Given the description of an element on the screen output the (x, y) to click on. 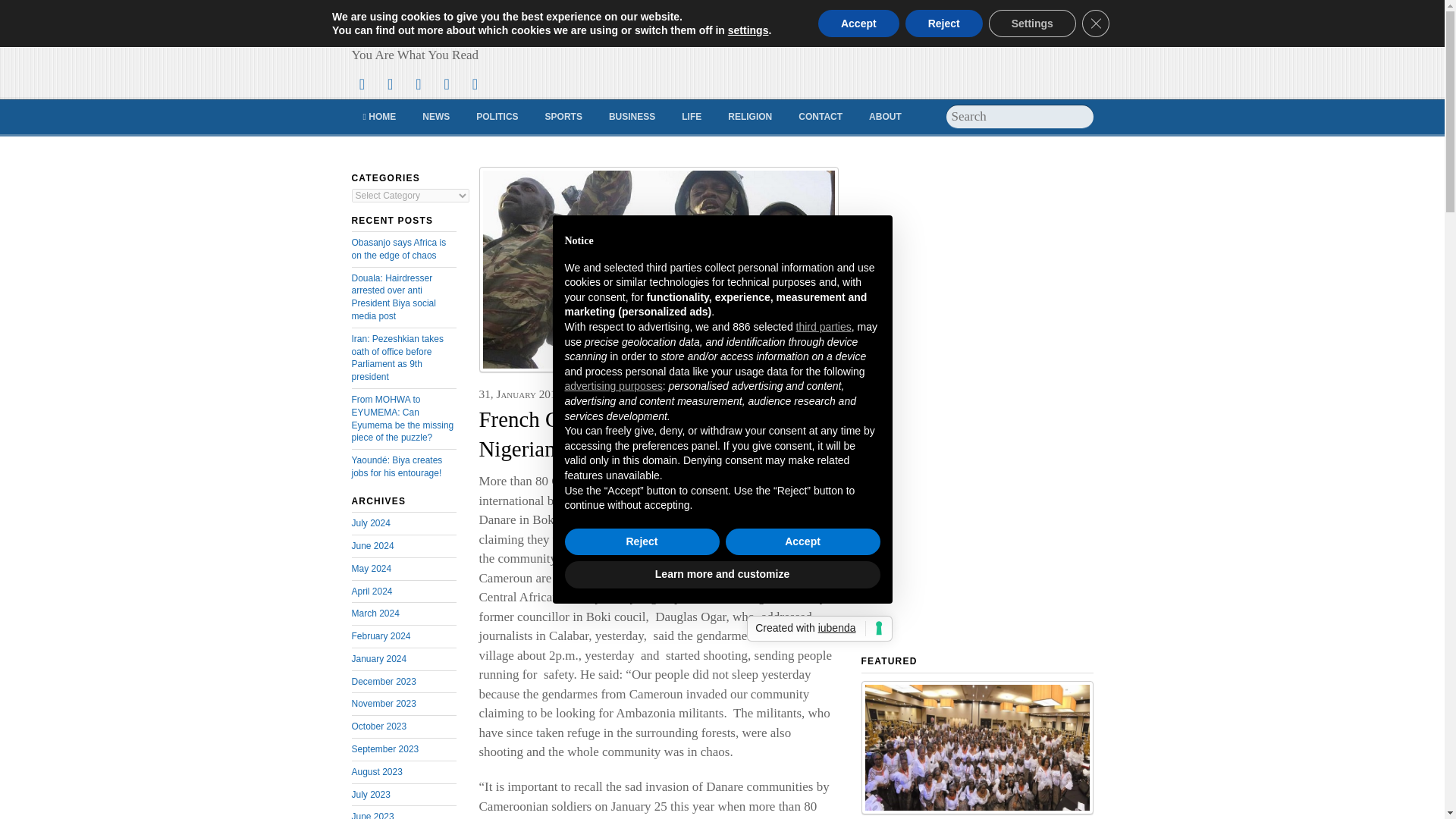
POLITICS (496, 116)
SPORTS (564, 116)
CONTACT (820, 116)
BUSINESS (631, 116)
Linkedin (474, 83)
RELIGION (749, 116)
Facebook (390, 83)
NEWS (435, 116)
Manyu Women (977, 747)
YouTube (446, 83)
Twitter (362, 83)
Cameroon Concord News (489, 29)
HOME (379, 116)
Cameroon Concord News (489, 29)
Cameroon army (658, 269)
